Given the description of an element on the screen output the (x, y) to click on. 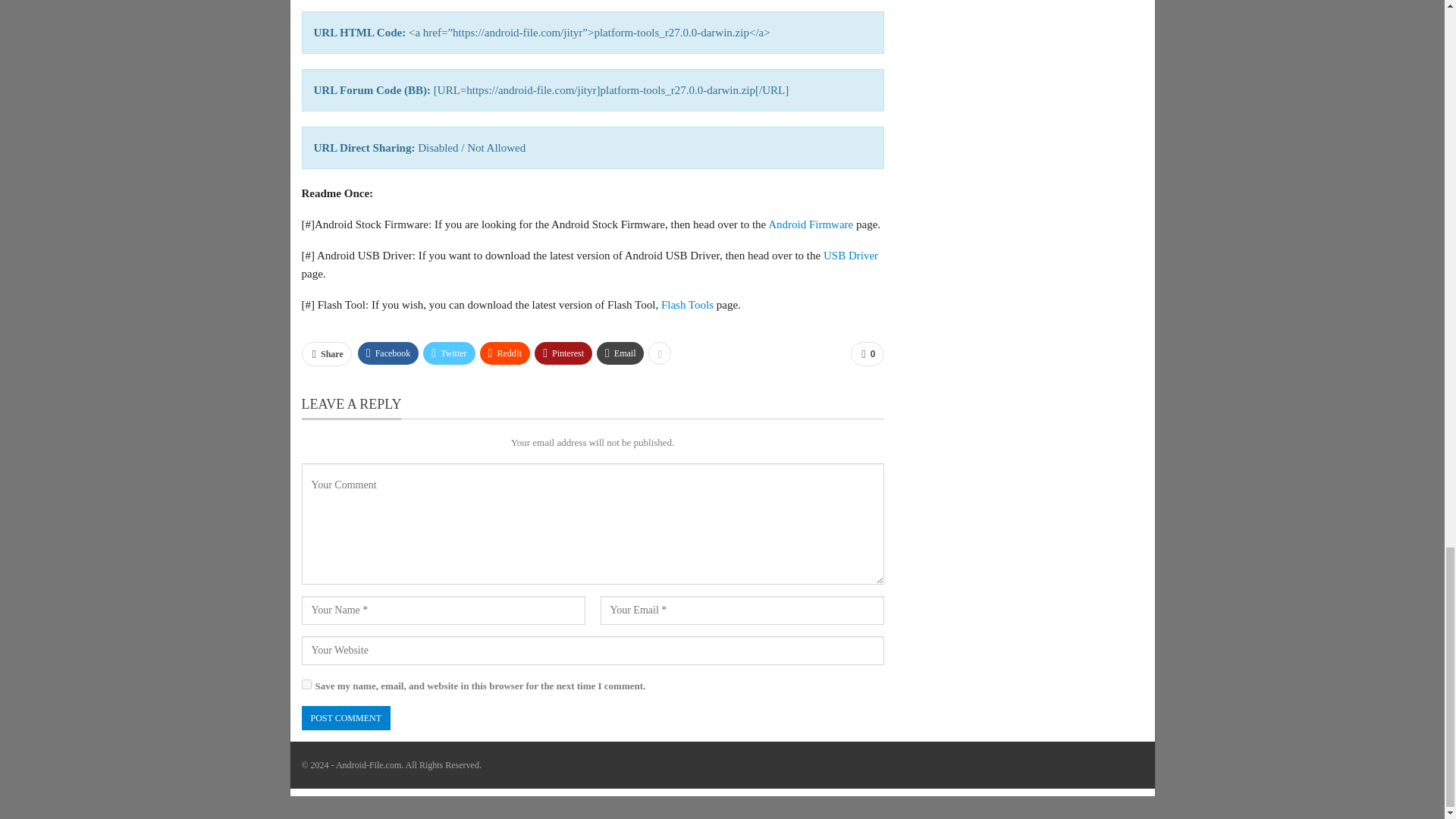
Facebook (388, 353)
yes (306, 684)
Post Comment (345, 718)
0 (866, 354)
Pinterest (563, 353)
USB Driver (850, 255)
Flash Tools (687, 304)
Android Firmware (810, 224)
ReddIt (505, 353)
Email (620, 353)
Post Comment (345, 718)
Twitter (448, 353)
